Given the description of an element on the screen output the (x, y) to click on. 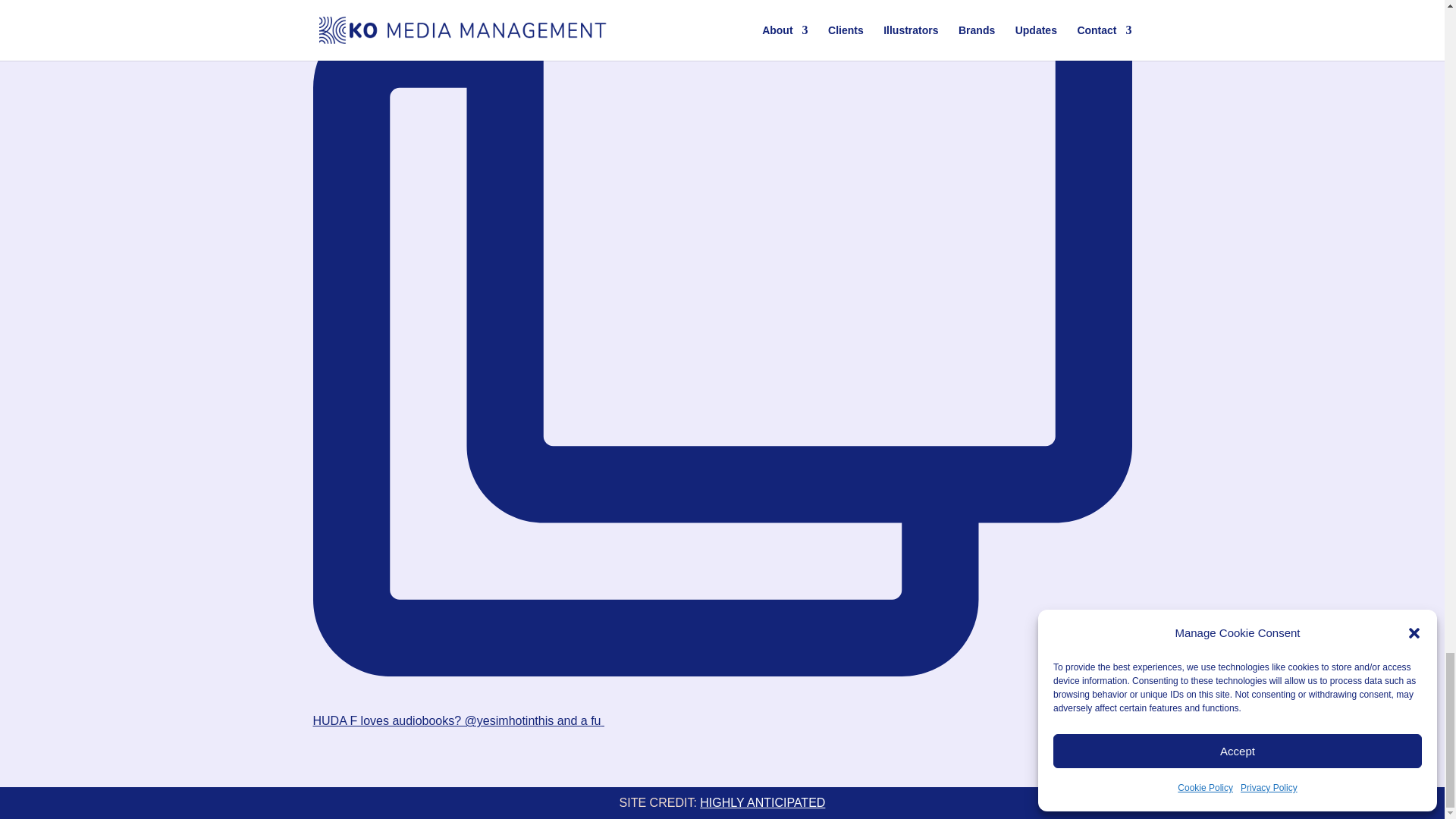
HIGHLY ANTICIPATED (762, 802)
